Given the description of an element on the screen output the (x, y) to click on. 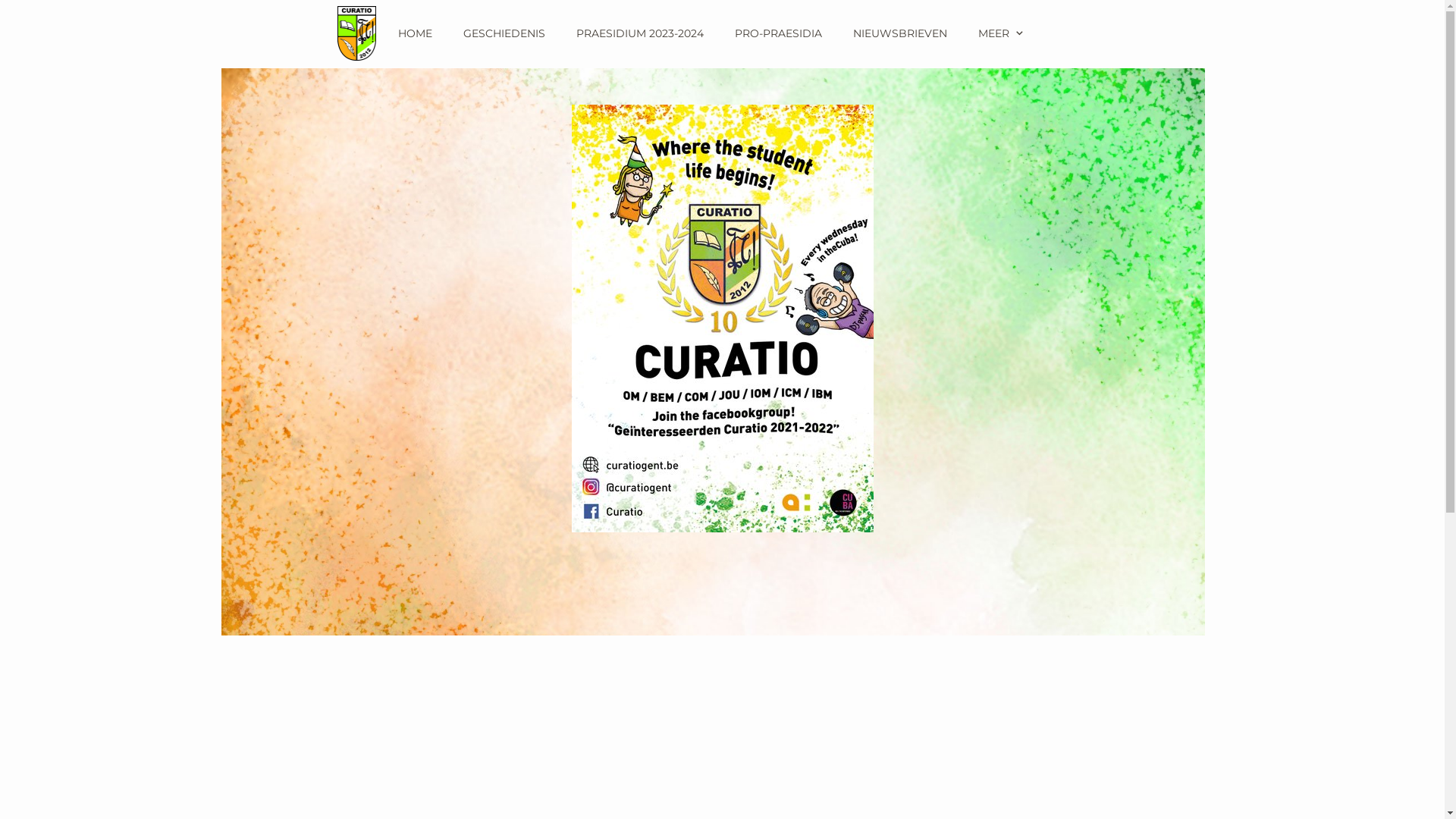
NIEUWSBRIEVEN Element type: text (899, 32)
HOME Element type: text (414, 32)
PRO-PRAESIDIA Element type: text (777, 32)
GESCHIEDENIS Element type: text (503, 32)
MEER Element type: text (1002, 32)
PRAESIDIUM 2023-2024 Element type: text (639, 32)
